Given the description of an element on the screen output the (x, y) to click on. 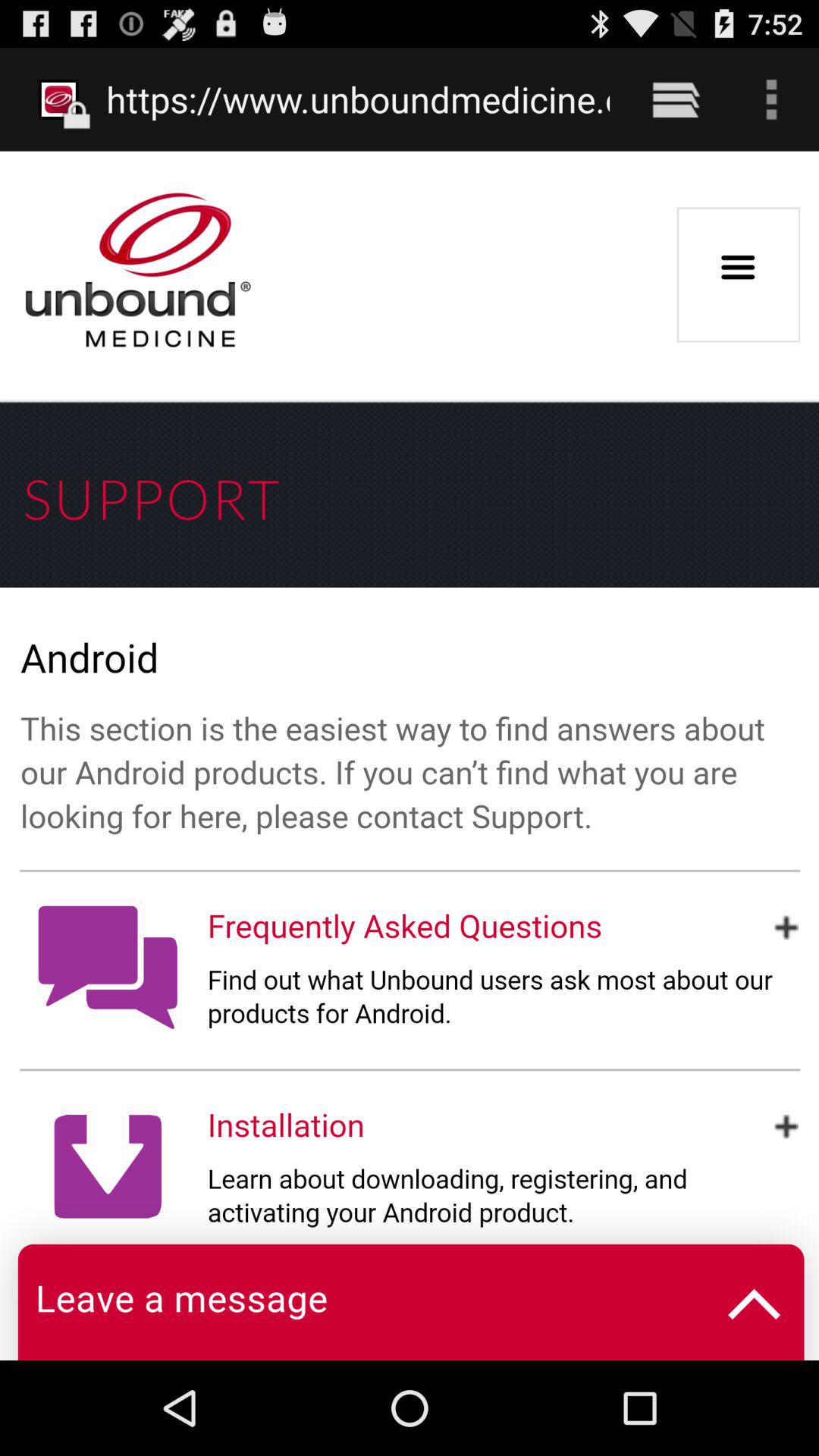
choose the item to the right of https www unboundmedicine item (675, 99)
